Given the description of an element on the screen output the (x, y) to click on. 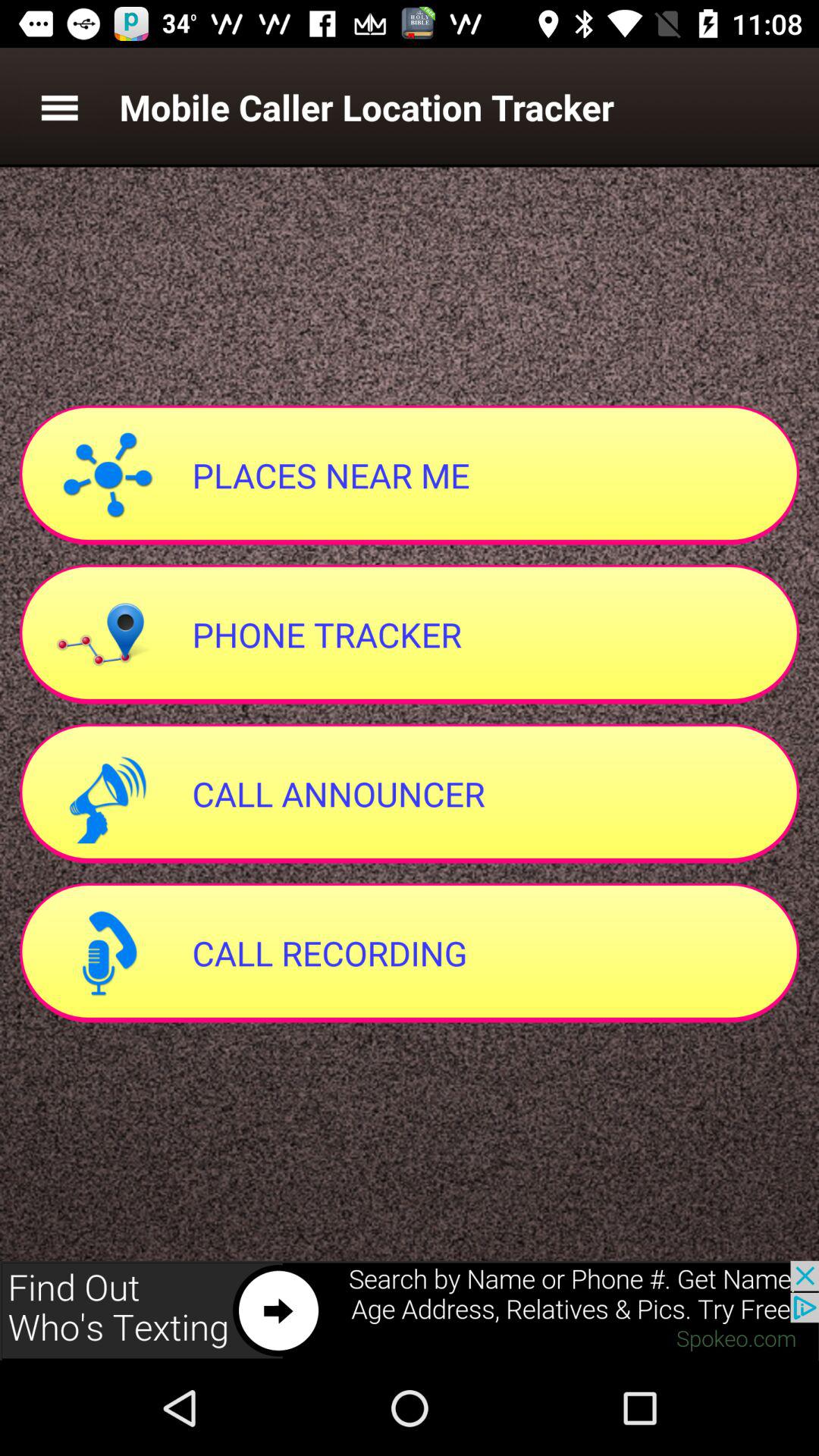
menu center (59, 107)
